Given the description of an element on the screen output the (x, y) to click on. 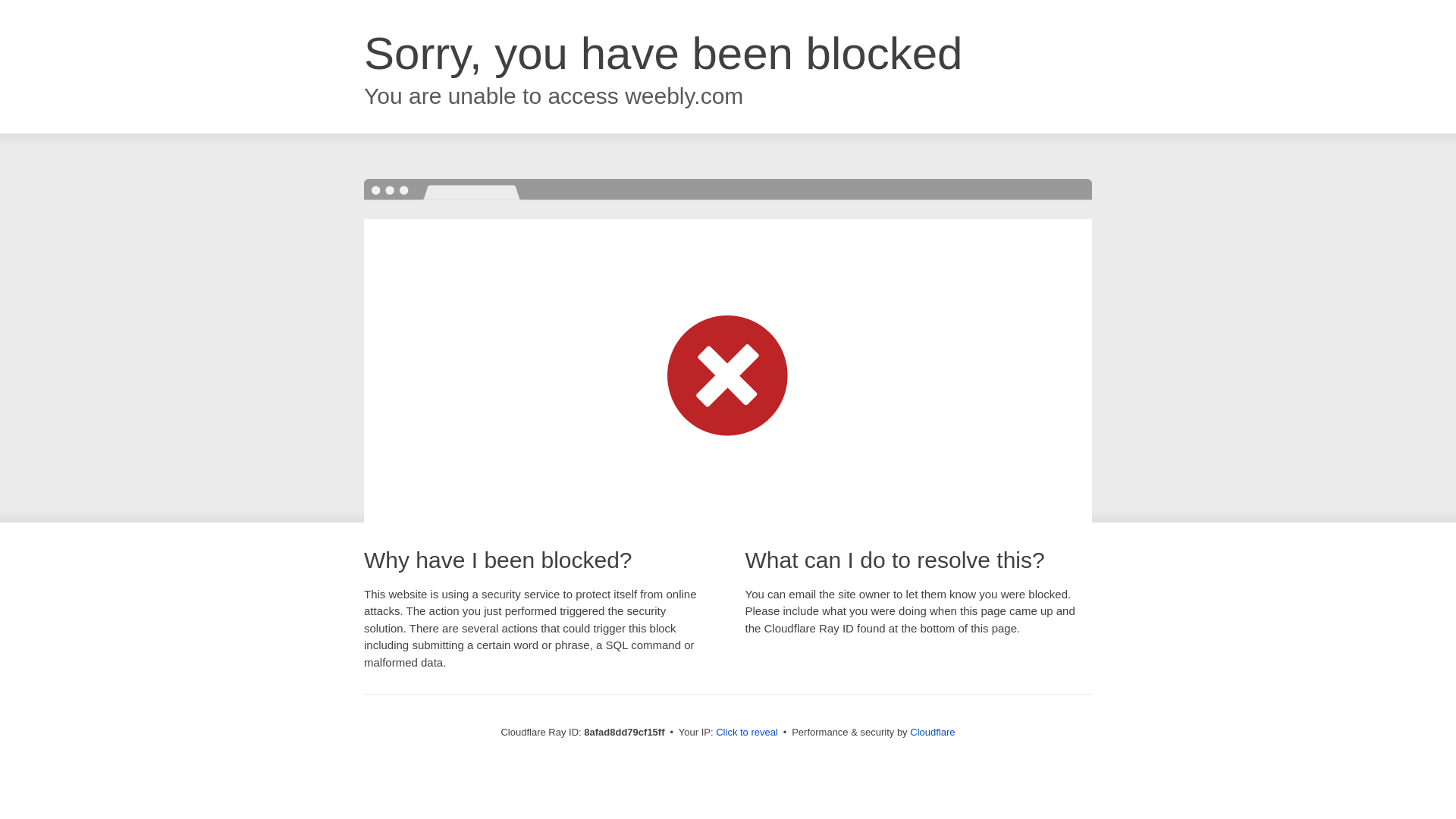
Click to reveal (746, 732)
Cloudflare (932, 731)
